Given the description of an element on the screen output the (x, y) to click on. 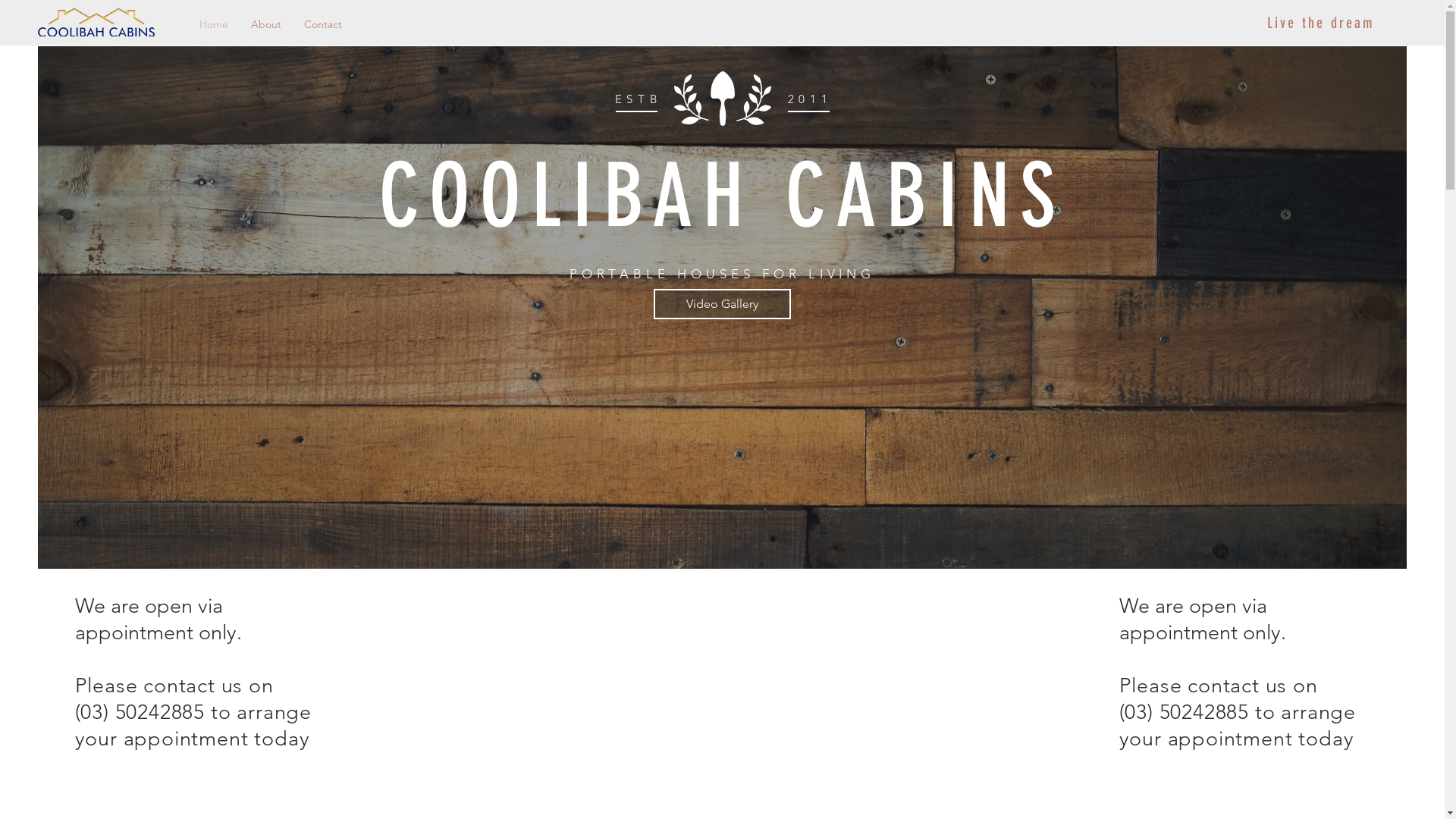
About Element type: text (265, 24)
Video Gallery Element type: text (721, 303)
Home Element type: text (213, 24)
Contact Element type: text (322, 24)
